Given the description of an element on the screen output the (x, y) to click on. 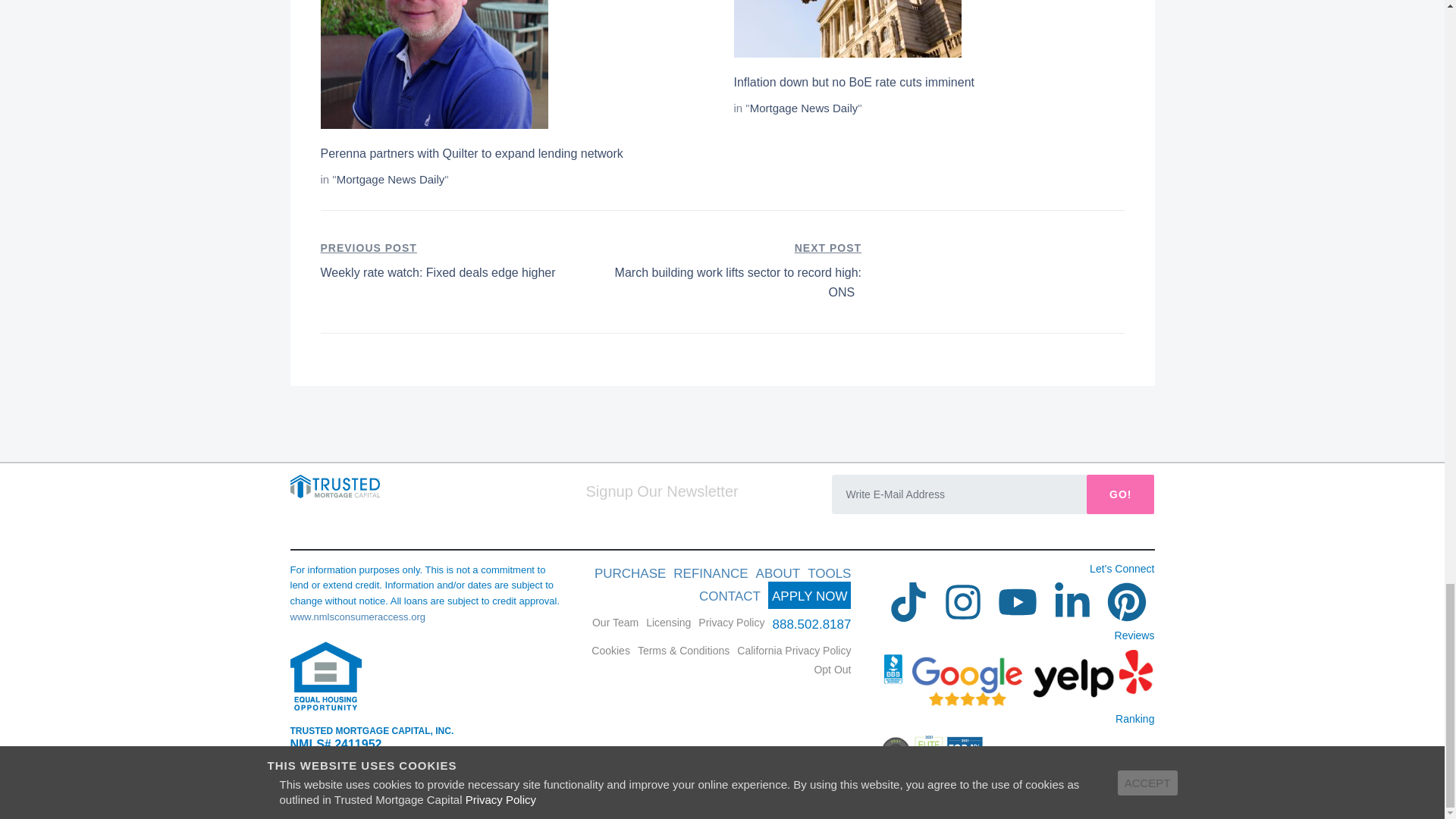
Mortgage News Daily (390, 178)
Licensing (668, 622)
PURCHASE (629, 573)
Our Team (615, 622)
ABOUT (777, 573)
Perenna partners with Quilter to expand lending network (471, 153)
Inflation down but no BoE rate cuts imminent (854, 82)
bbb (932, 751)
APPLY NOW (449, 261)
Privacy Policy (809, 595)
www.nmlsconsumeraccess.org (731, 622)
TOOLS (357, 616)
888.502.8187 (829, 573)
Cookies (810, 624)
